Given the description of an element on the screen output the (x, y) to click on. 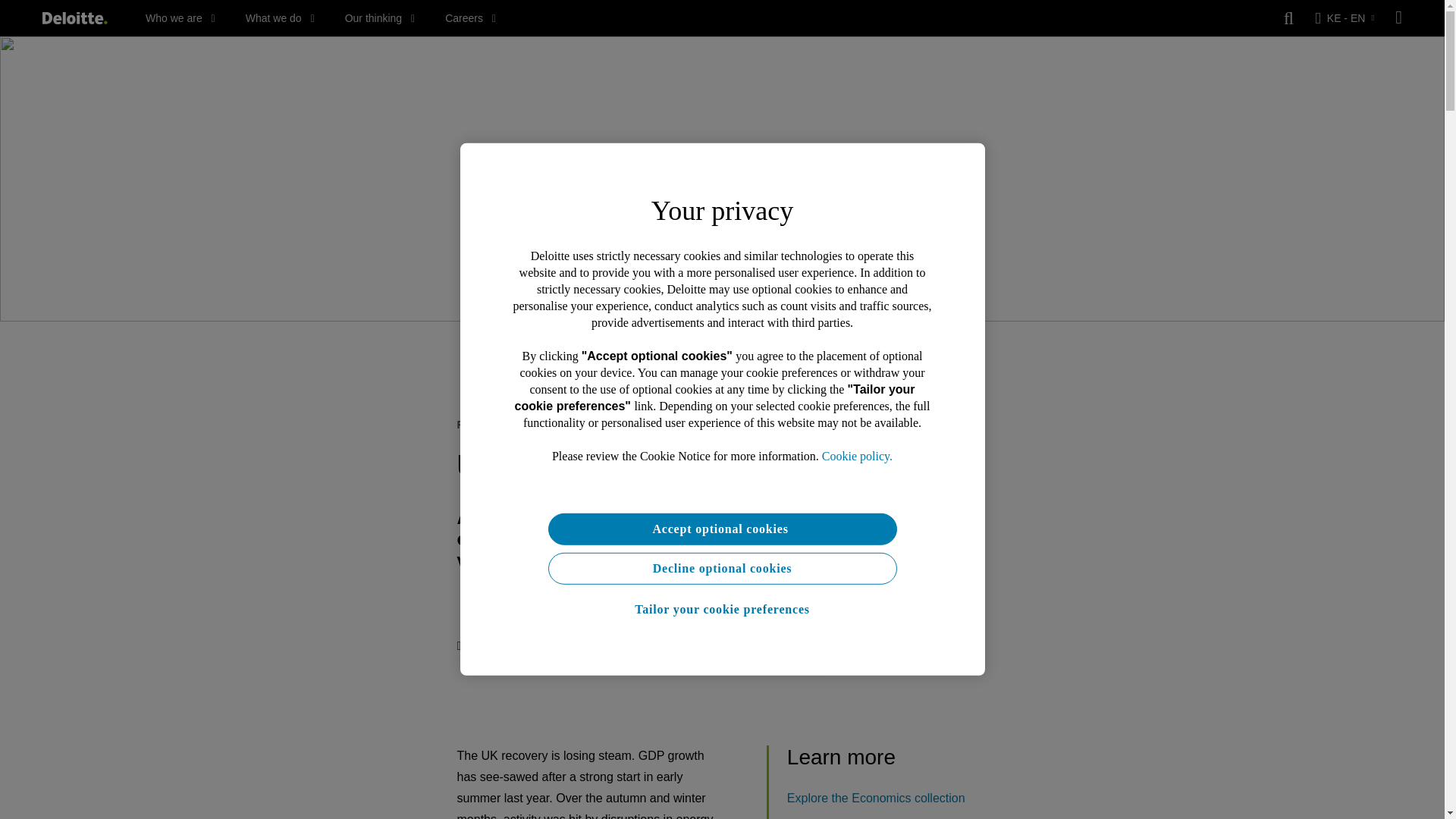
share via linkedin (558, 645)
Print (474, 645)
share via twitter (528, 645)
Deloitte (74, 18)
Careers (470, 18)
share via facebook (588, 645)
Who we are (180, 18)
Our thinking (379, 18)
share via email (619, 645)
What we do (280, 18)
